Given the description of an element on the screen output the (x, y) to click on. 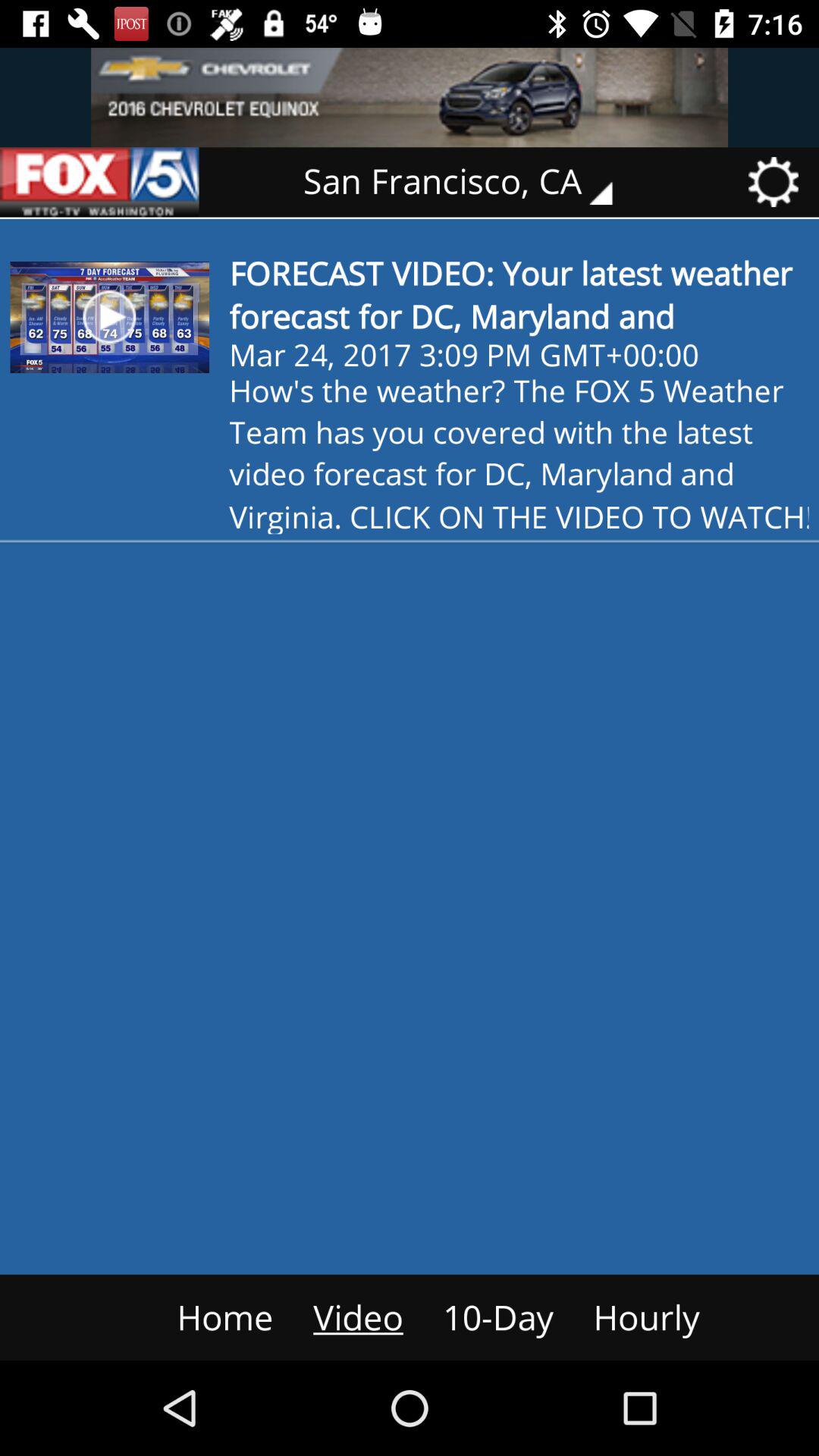
advertisement (409, 97)
